Given the description of an element on the screen output the (x, y) to click on. 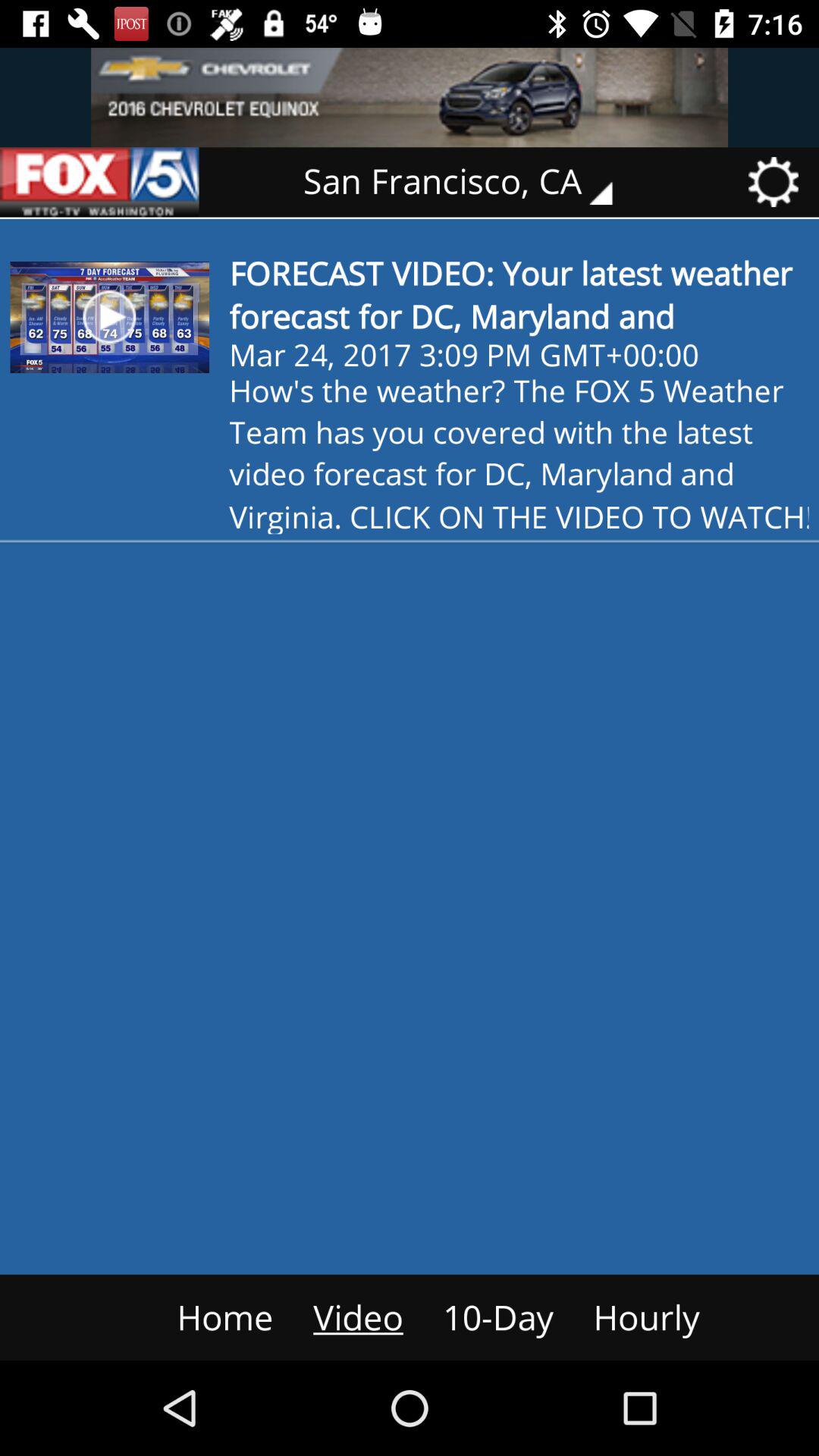
advertisement (409, 97)
